Given the description of an element on the screen output the (x, y) to click on. 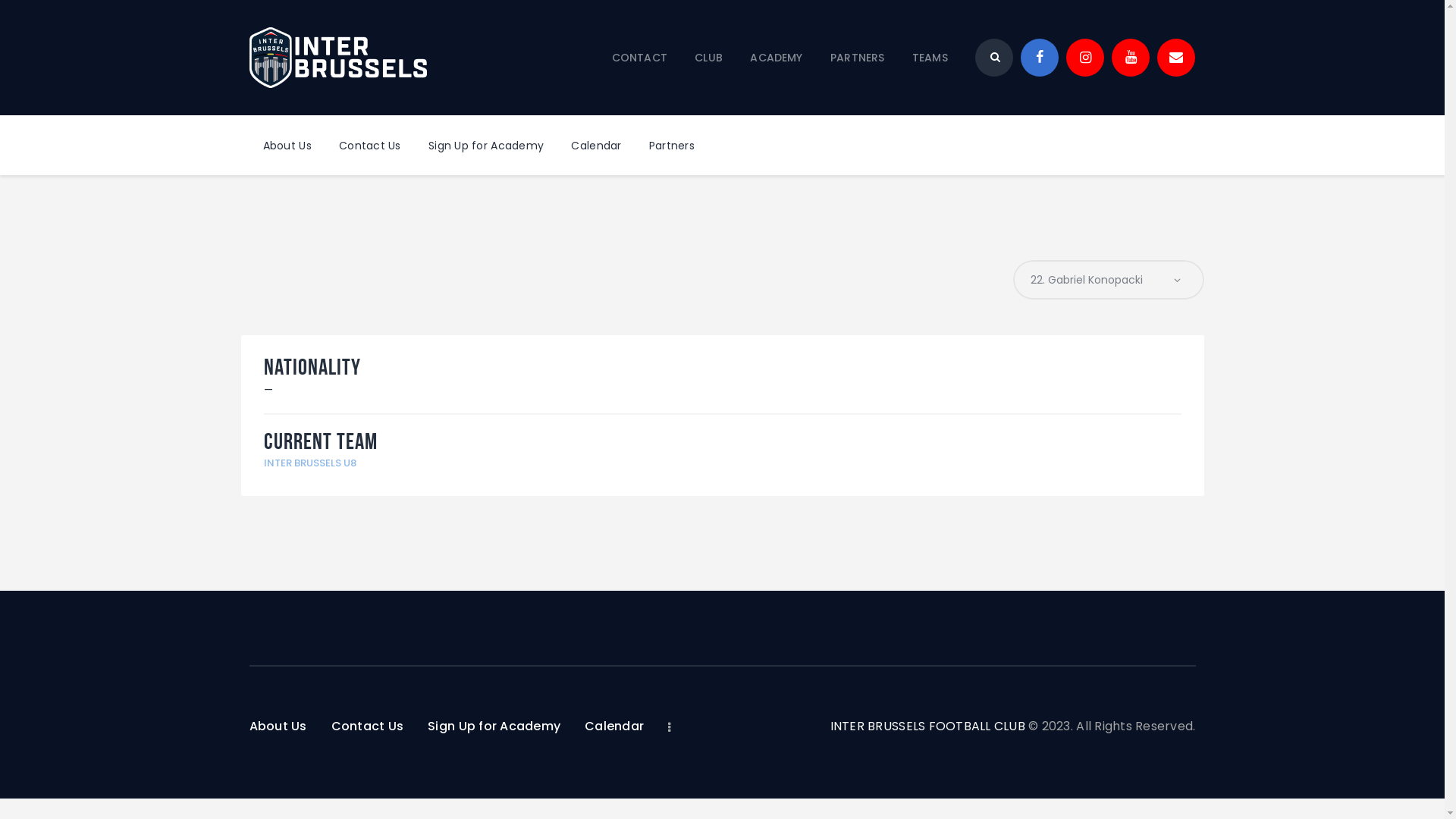
ACADEMY Element type: text (776, 57)
Sign Up for Academy Element type: text (485, 145)
Calendar Element type: text (595, 145)
Calendar Element type: text (613, 726)
TEAMS Element type: text (929, 57)
PARTNERS Element type: text (857, 57)
Sign Up for Academy Element type: text (493, 726)
Contact Us Element type: text (367, 726)
About Us Element type: text (283, 726)
INTER BRUSSELS FOOTBALL CLUB Element type: text (927, 725)
Contact Us Element type: text (369, 145)
INTER BRUSSELS U8 Element type: text (309, 462)
CONTACT Element type: text (638, 57)
CLUB Element type: text (708, 57)
About Us Element type: text (286, 145)
Partners Element type: text (671, 145)
